Given the description of an element on the screen output the (x, y) to click on. 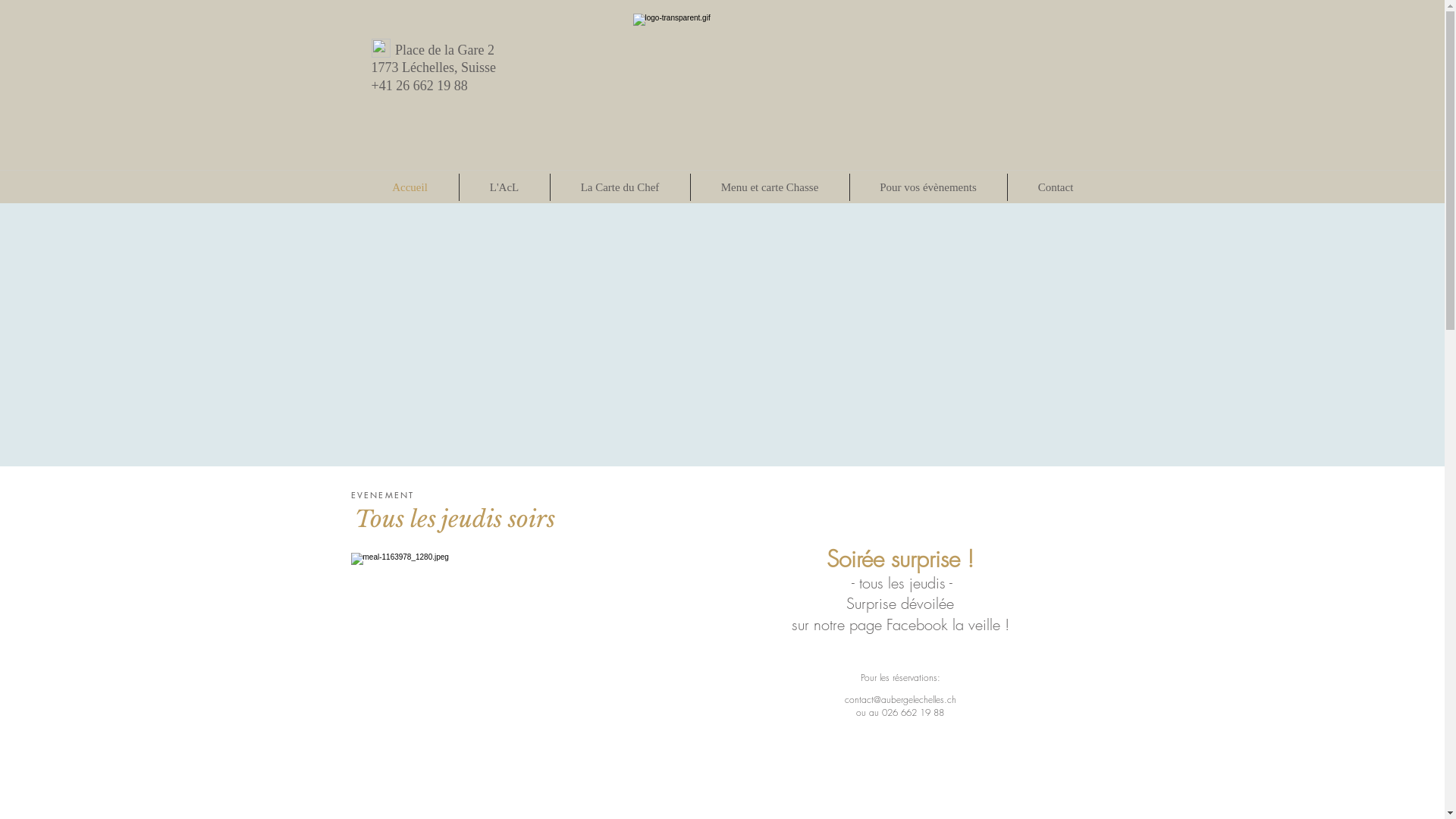
Contact Element type: text (1055, 186)
Accueil Element type: text (409, 186)
Menu et carte Chasse Element type: text (769, 186)
La Carte du Chef Element type: text (620, 186)
L'AcL Element type: text (504, 186)
contact@aubergelechelles.ch Element type: text (900, 699)
